Given the description of an element on the screen output the (x, y) to click on. 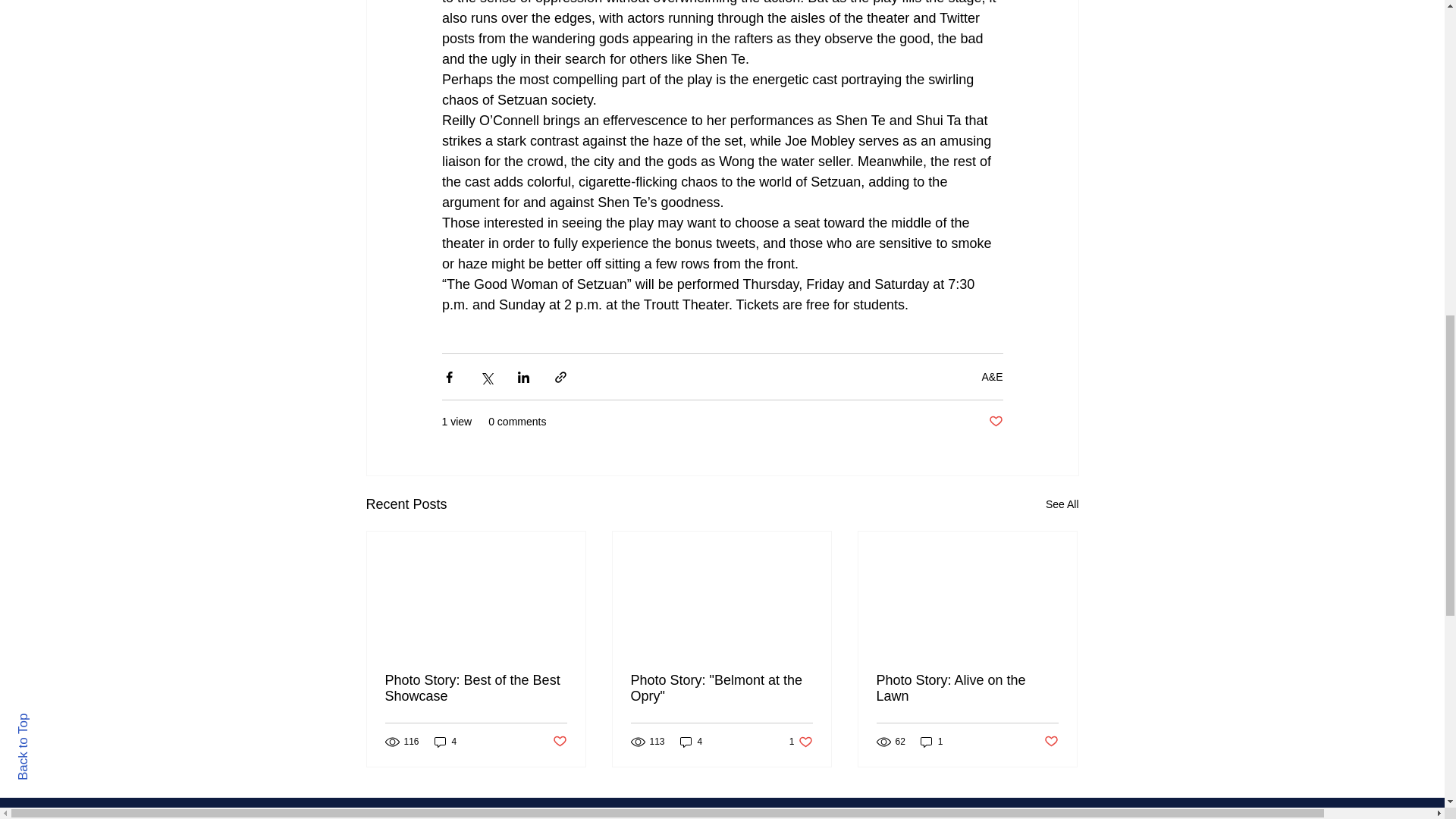
Post not marked as liked (995, 421)
